Given the description of an element on the screen output the (x, y) to click on. 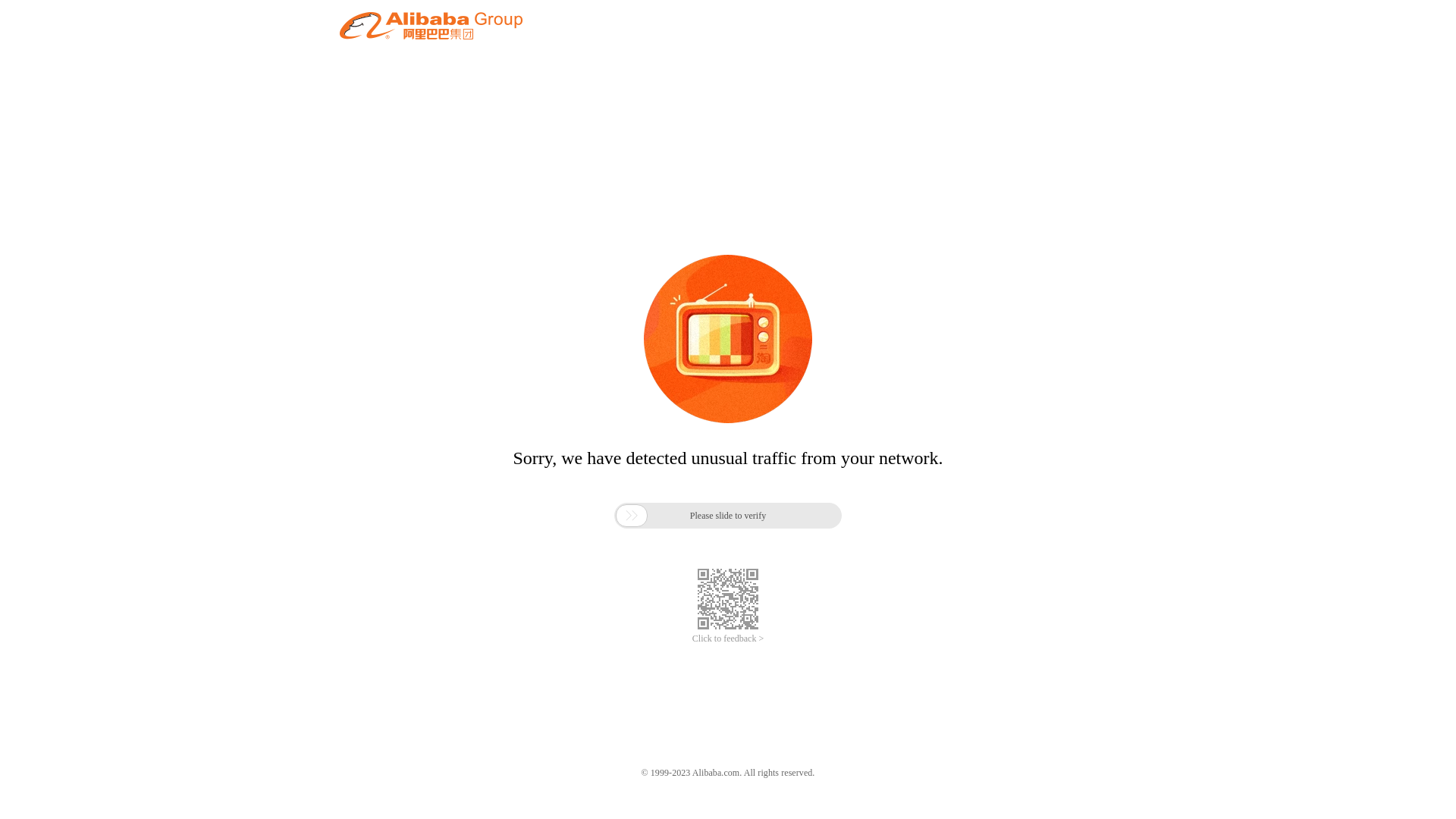
Click to feedback > Element type: text (727, 638)
